Given the description of an element on the screen output the (x, y) to click on. 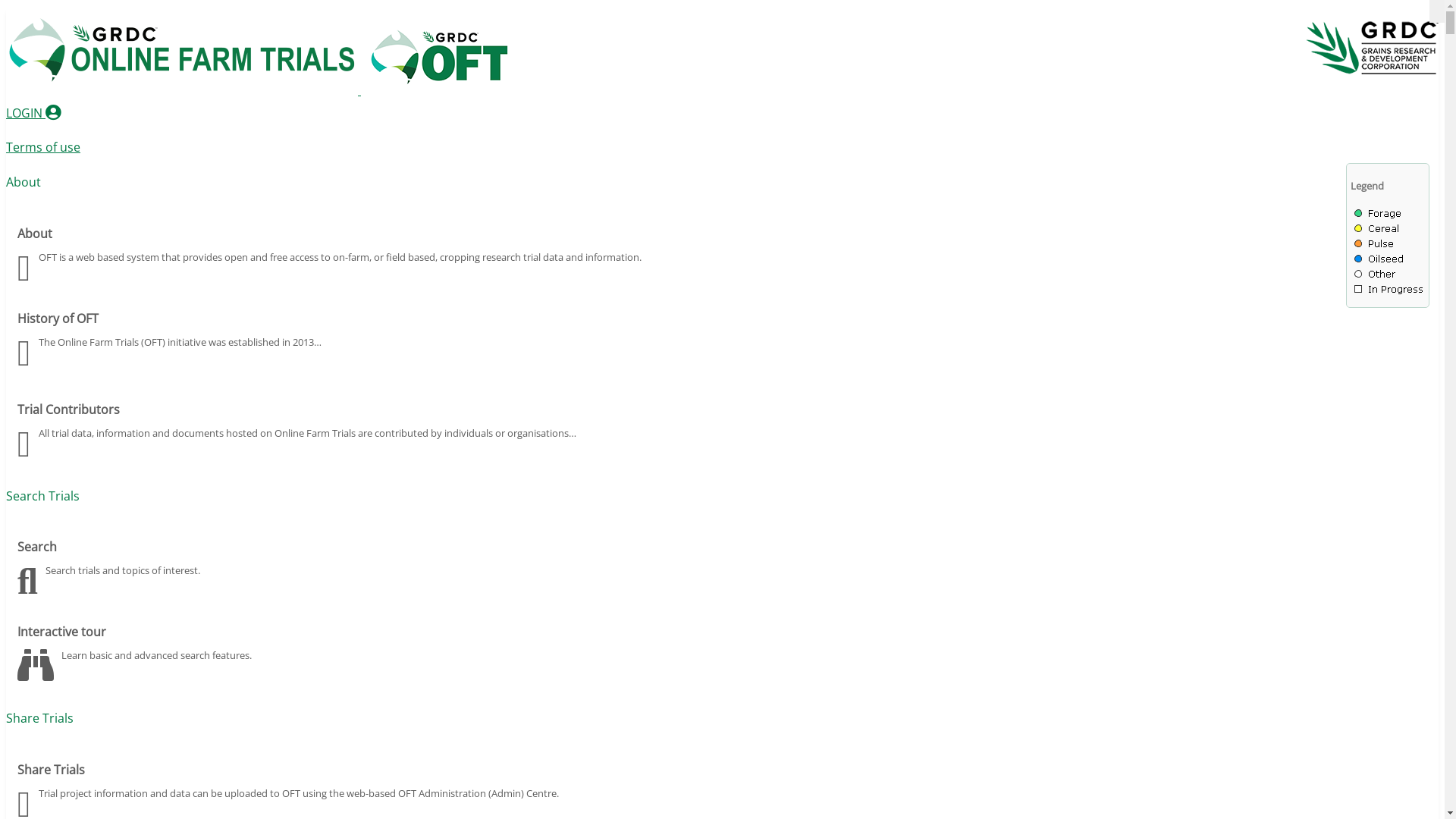
Terms of use Element type: text (43, 146)
Toggle navigation Element type: text (1436, 11)
Search
Search trials and topics of interest. Element type: text (722, 564)
Share Trials Element type: text (39, 717)
Interactive tour
Learn basic and advanced search features. Element type: text (722, 649)
Search Trials Element type: text (42, 495)
LOGIN Element type: text (33, 112)
About Element type: text (23, 181)
